Given the description of an element on the screen output the (x, y) to click on. 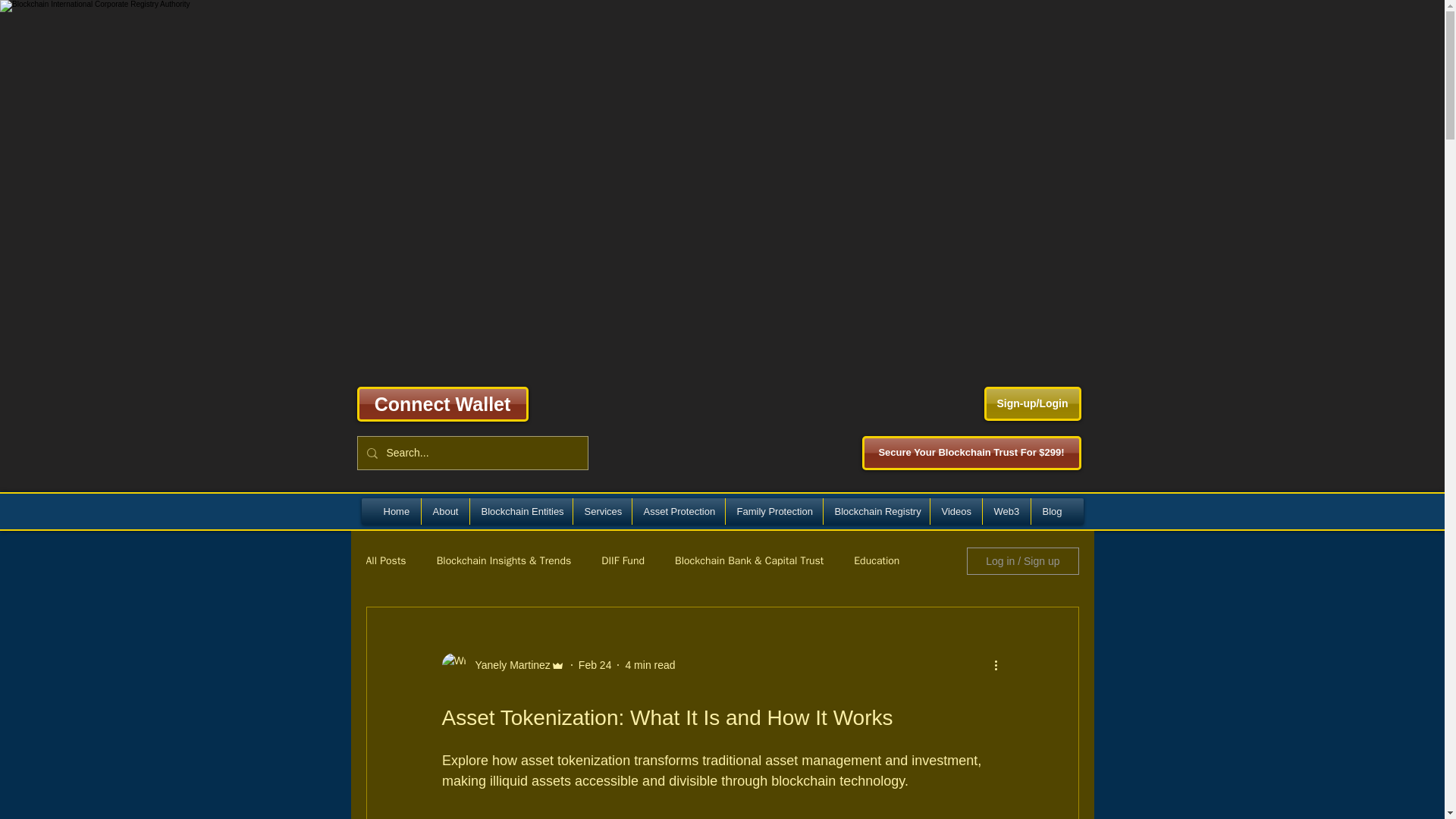
Feb 24 (594, 664)
Yanely Martinez (507, 664)
Home (395, 510)
Blockchain Entities (520, 510)
About (444, 510)
4 min read (649, 664)
Connect Wallet (441, 403)
